Given the description of an element on the screen output the (x, y) to click on. 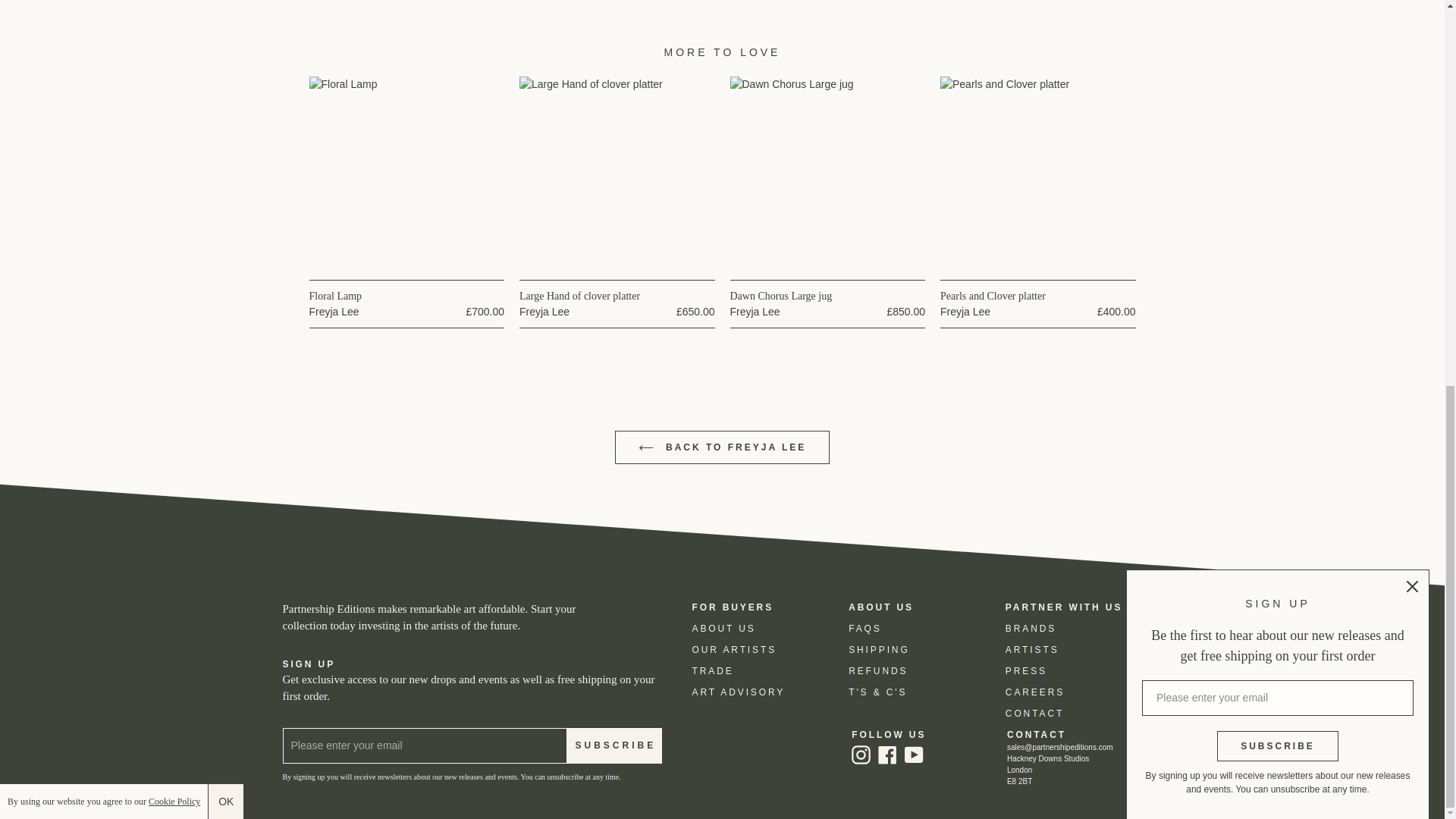
Freyja Lee (965, 311)
Freyja Lee (753, 311)
OK (225, 73)
Cookie Policy (174, 73)
Subscribe (614, 745)
Subscribe (1277, 19)
Freyja Lee (333, 311)
Freyja Lee (544, 311)
